Given the description of an element on the screen output the (x, y) to click on. 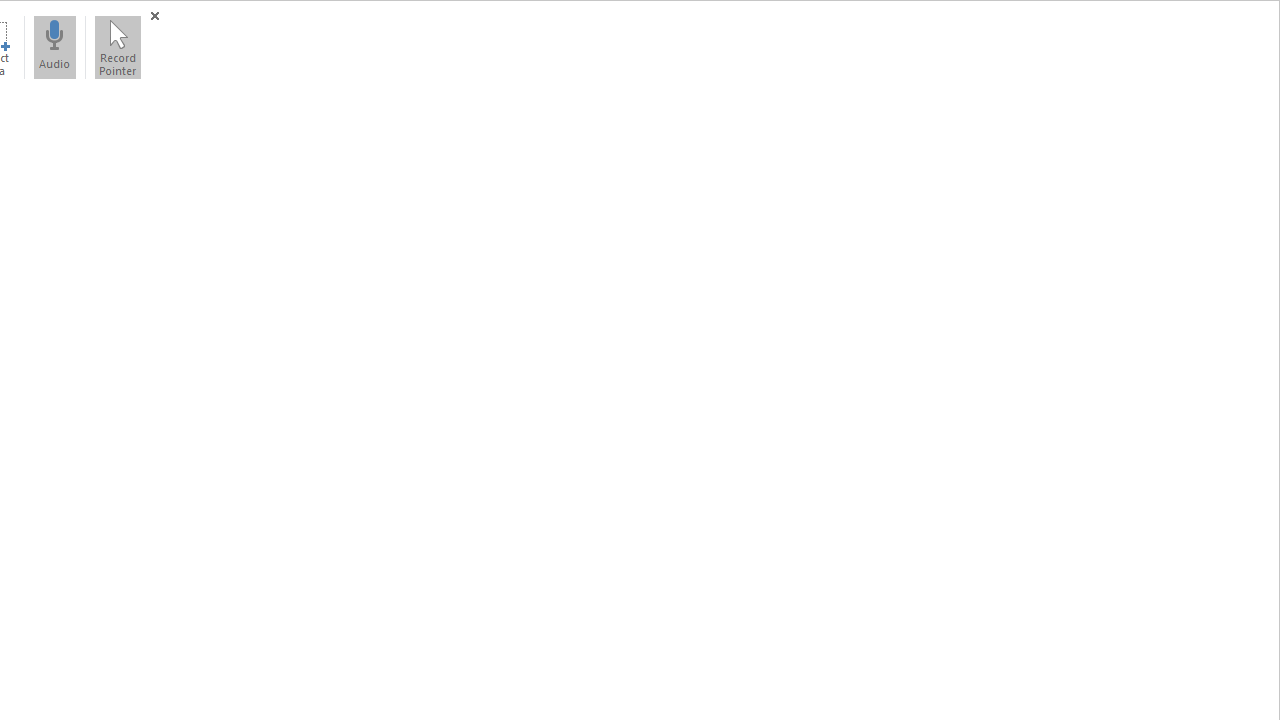
Record Pointer (117, 47)
Close (Windows logo key+Shift+Q) (154, 16)
